Given the description of an element on the screen output the (x, y) to click on. 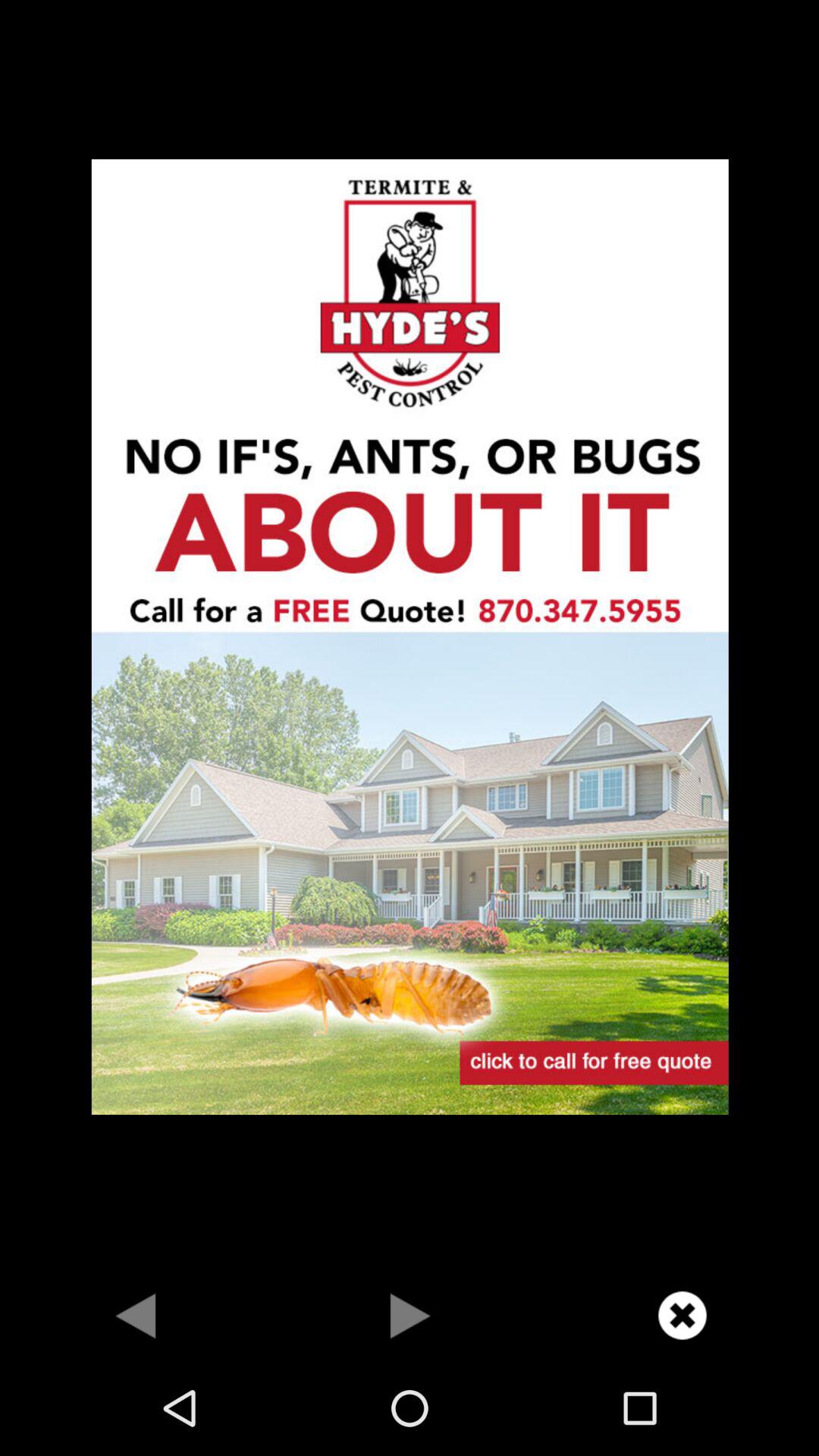
select the close (682, 1315)
